Given the description of an element on the screen output the (x, y) to click on. 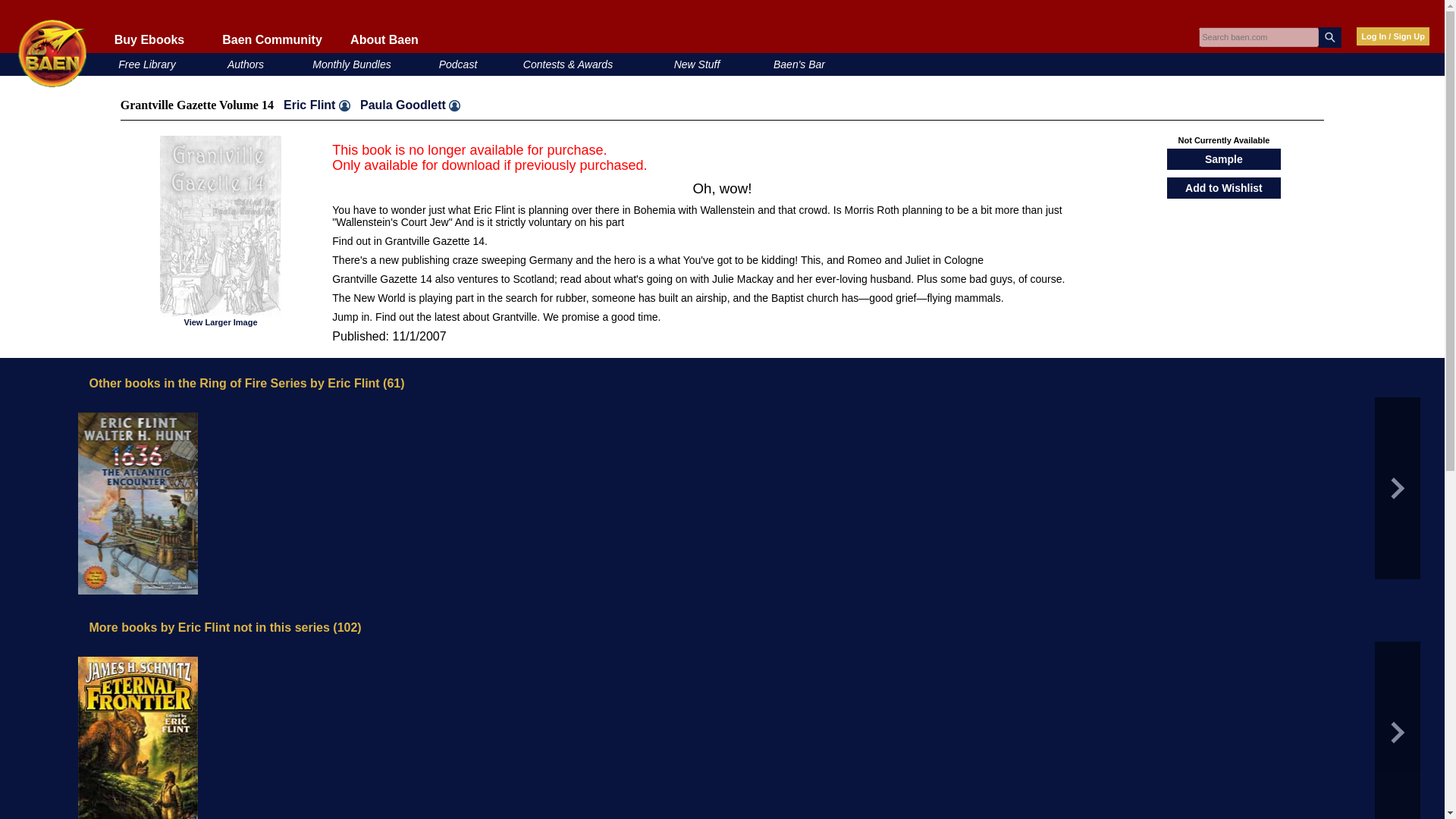
Podcast (458, 64)
Buy Ebooks (149, 40)
Monthly Bundles (352, 64)
About Baen (384, 40)
New Stuff (697, 64)
Baen Community (272, 40)
Free Library (145, 64)
Authors (245, 64)
Baen's Bar (799, 64)
